Given the description of an element on the screen output the (x, y) to click on. 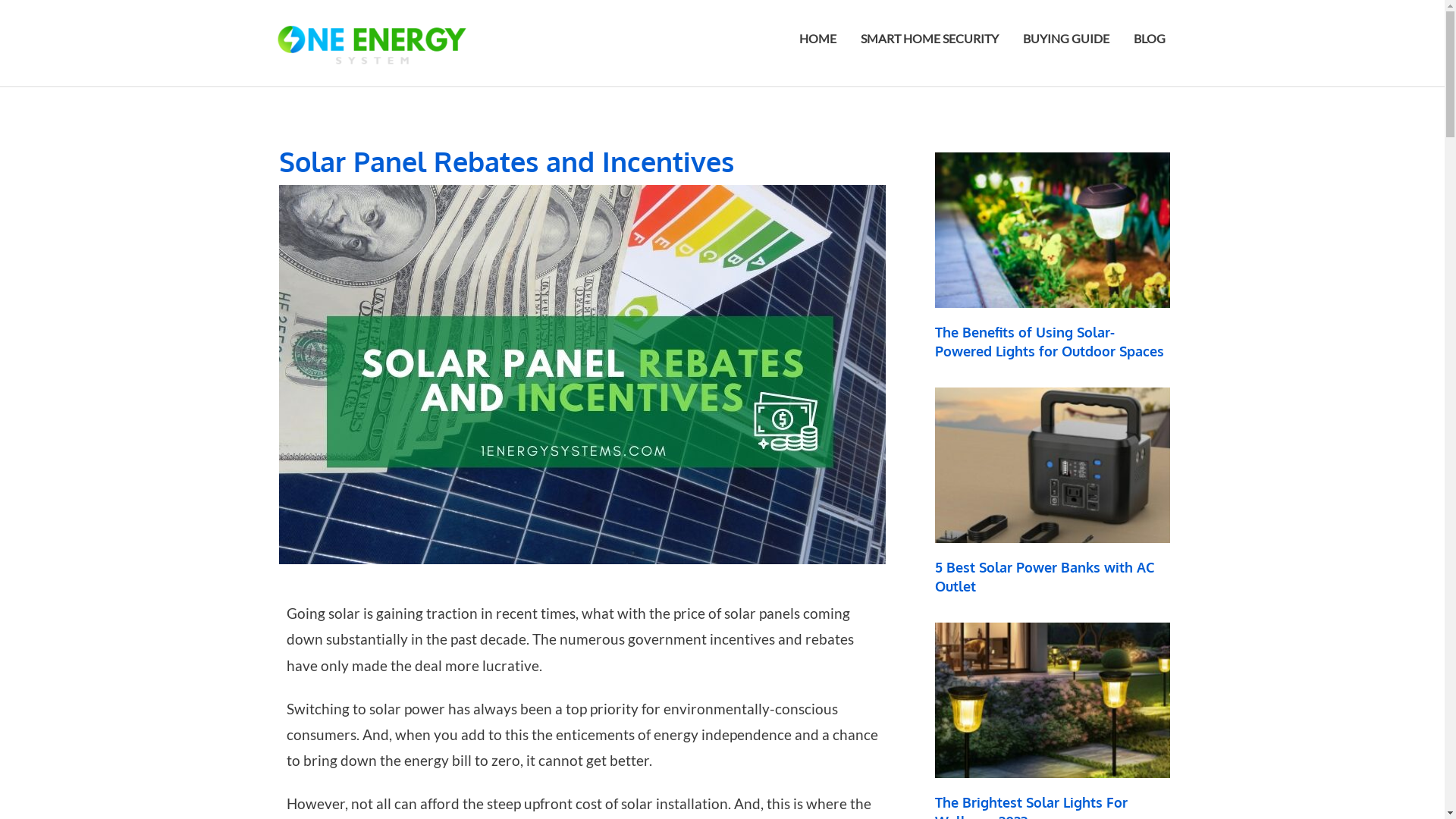
SMART HOME SECURITY Element type: text (928, 38)
5 Best Solar Power Banks with AC Outlet Element type: text (1043, 576)
BLOG Element type: text (1148, 38)
BUYING GUIDE Element type: text (1065, 38)
HOME Element type: text (817, 38)
